Given the description of an element on the screen output the (x, y) to click on. 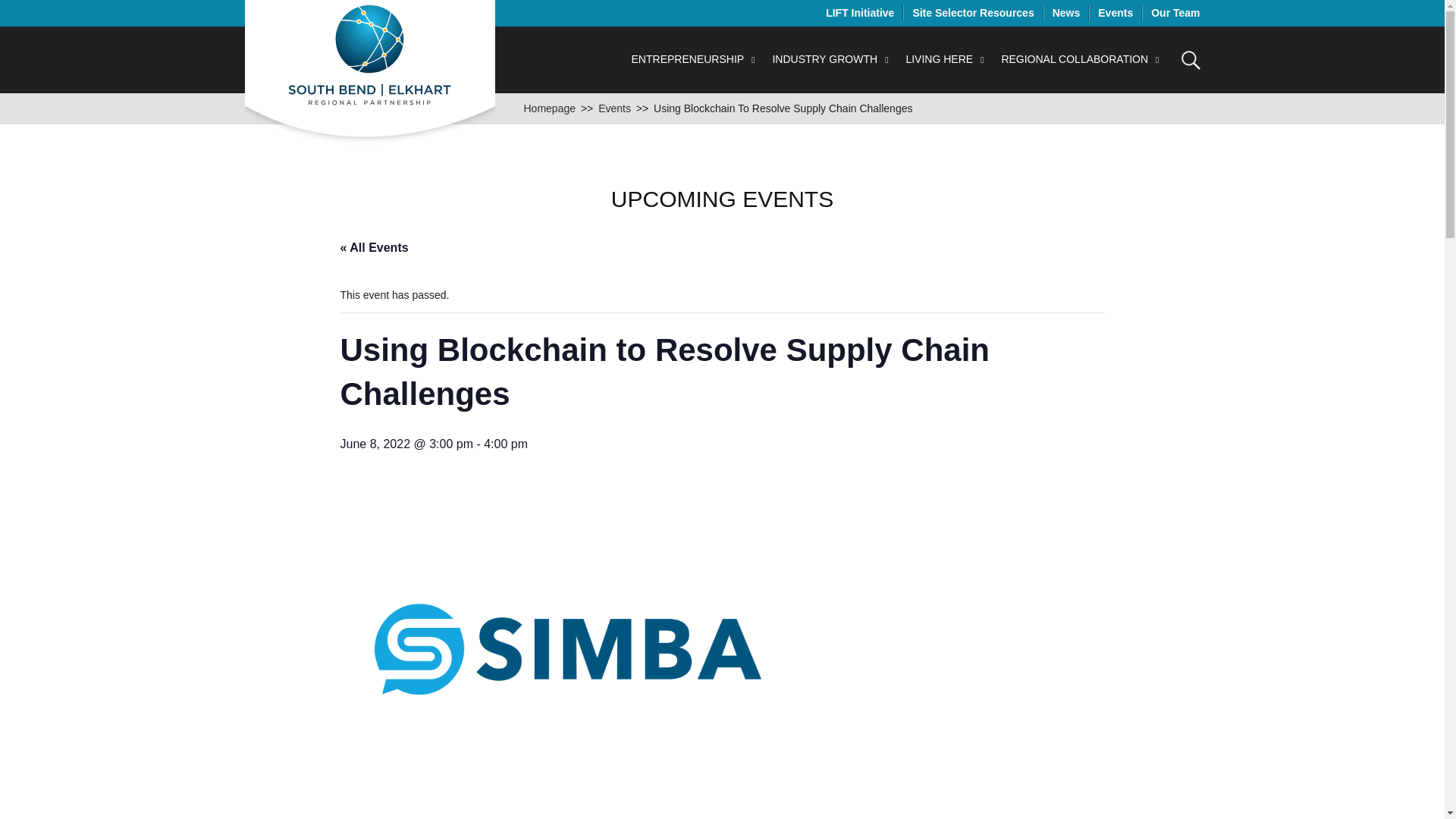
Homepage (548, 108)
INDUSTRY GROWTH (831, 59)
News (1066, 12)
Events (1114, 12)
Site Selector Resources (972, 12)
Using Blockchain to Resolve Supply Chain Challenges (782, 108)
ENTREPRENEURSHIP (694, 59)
Our Team (1175, 12)
LIVING HERE (946, 59)
Events (614, 108)
